Given the description of an element on the screen output the (x, y) to click on. 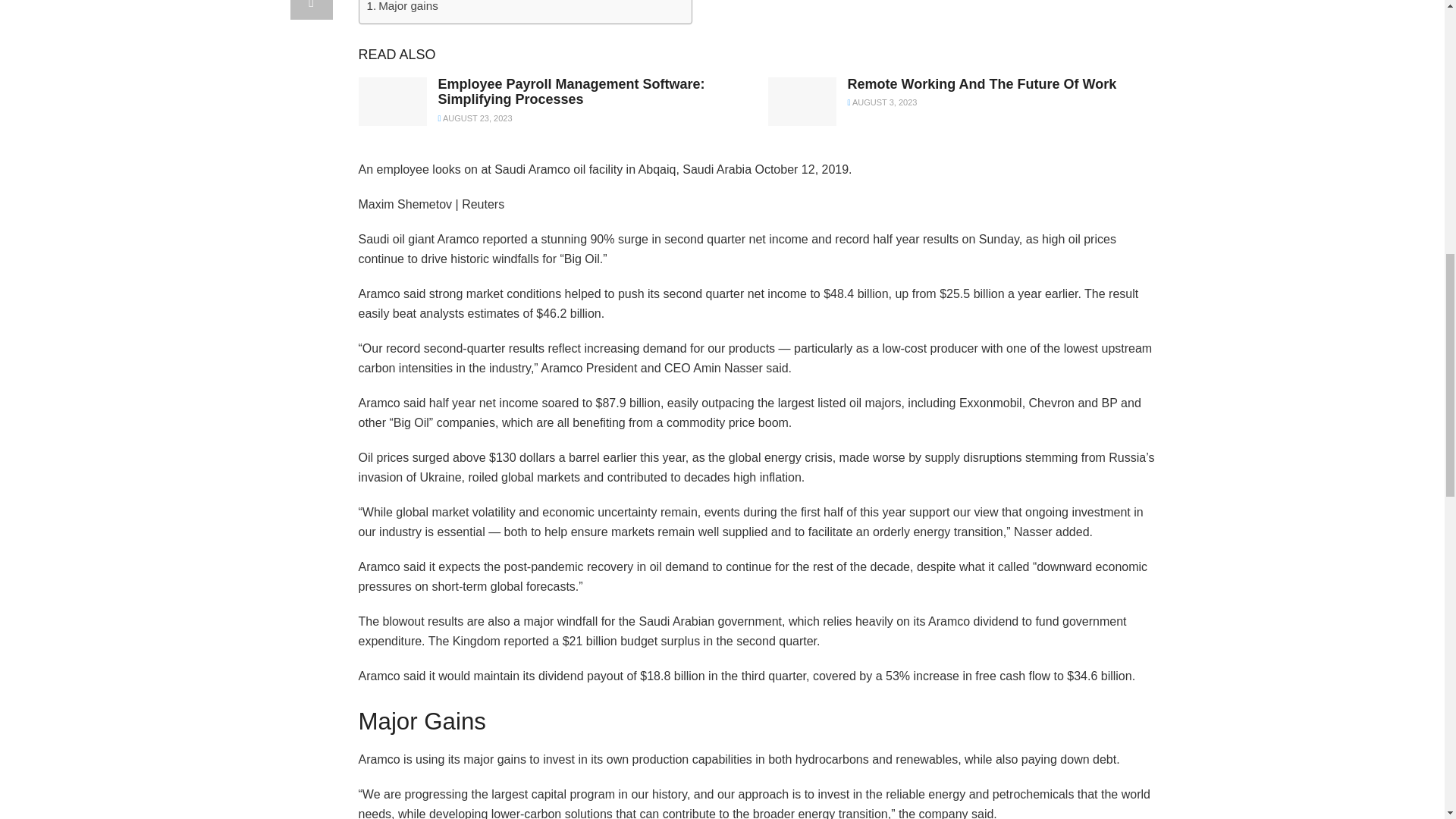
Major gains (402, 7)
